Given the description of an element on the screen output the (x, y) to click on. 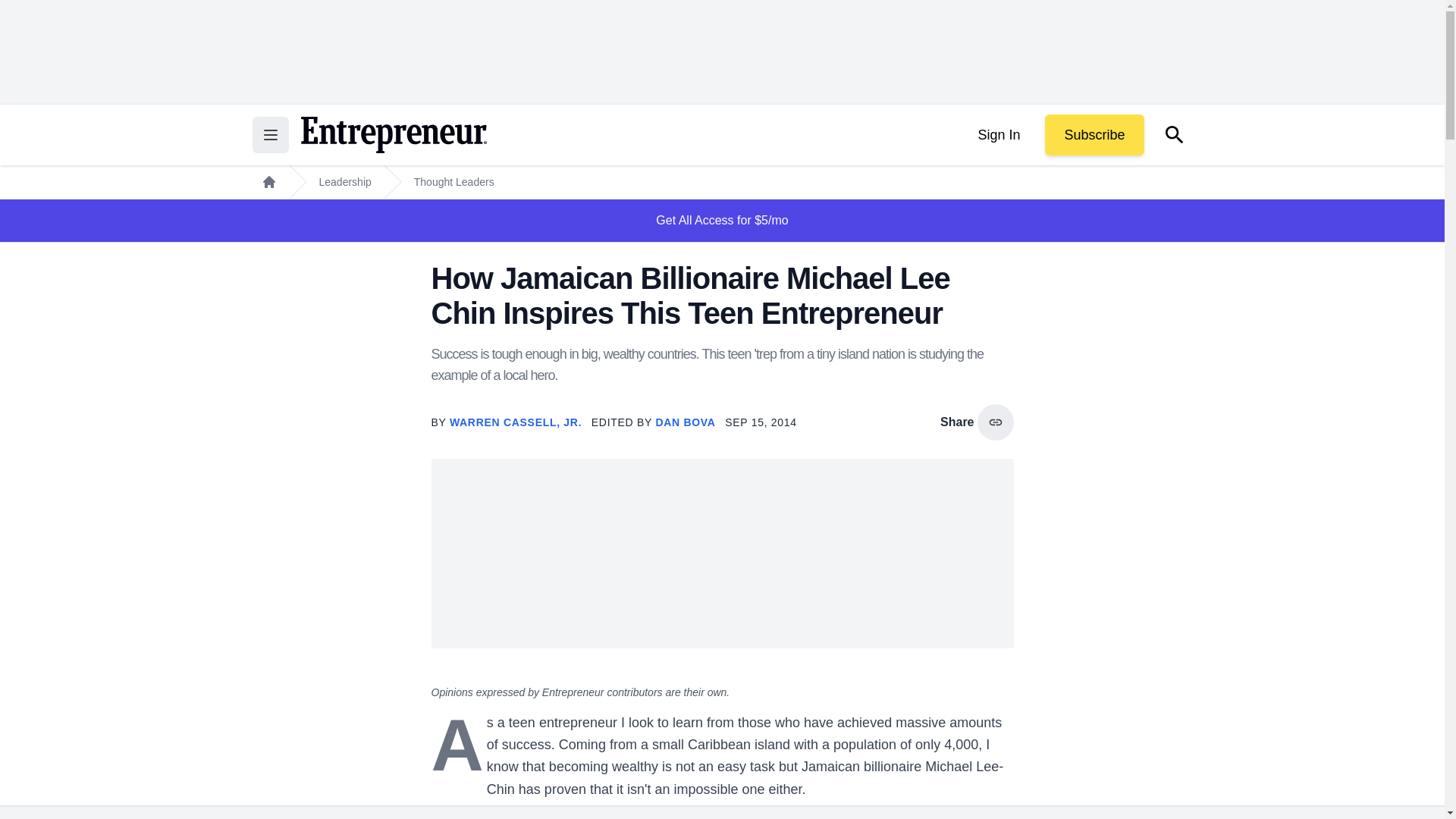
copy (994, 422)
Sign In (998, 134)
Return to the home page (392, 135)
Subscribe (1093, 134)
